Given the description of an element on the screen output the (x, y) to click on. 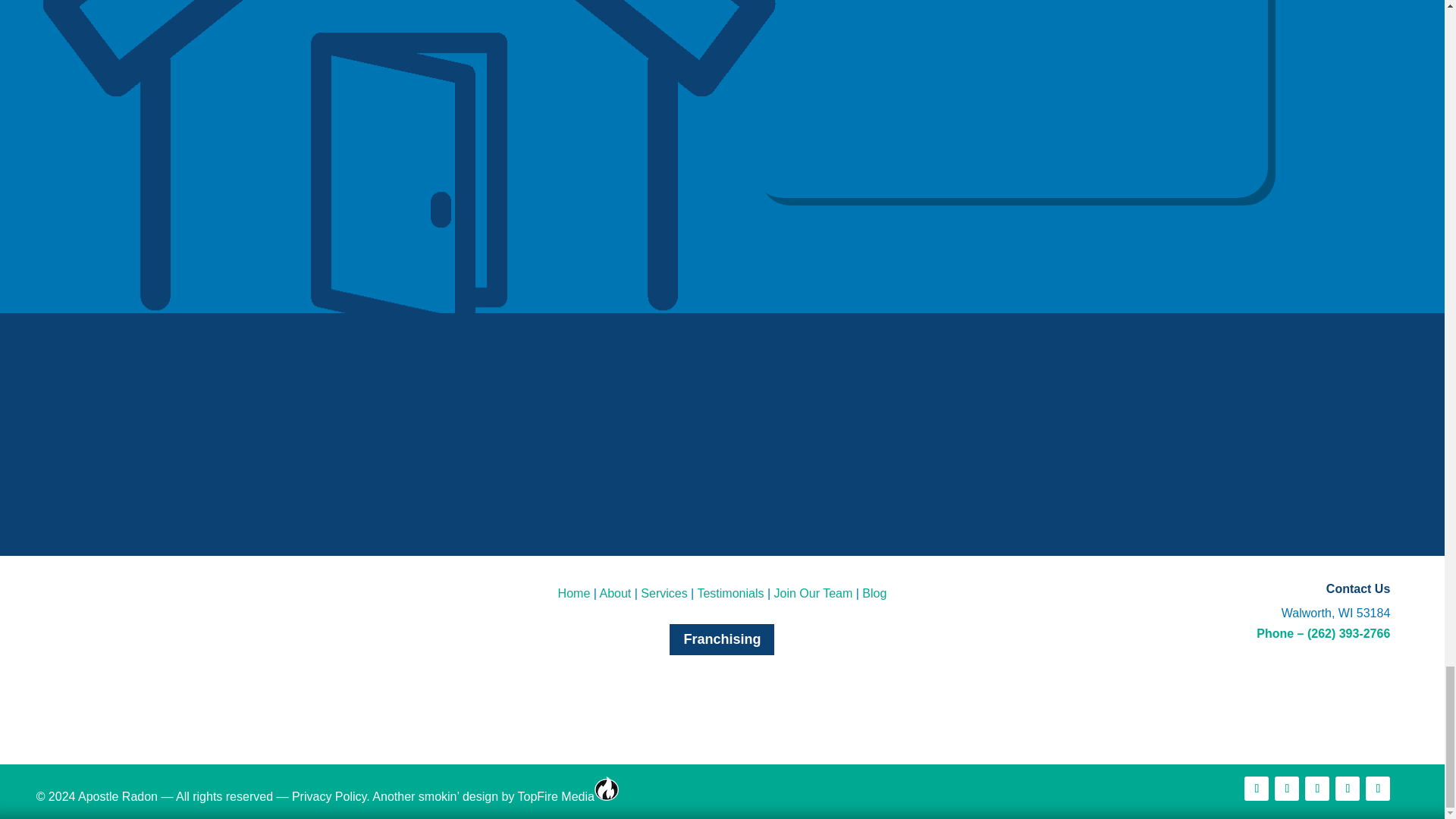
Join Our Team (813, 592)
About (614, 592)
Get More Info (1185, 460)
Testimonials (729, 592)
Services (663, 592)
Home (574, 592)
